Given the description of an element on the screen output the (x, y) to click on. 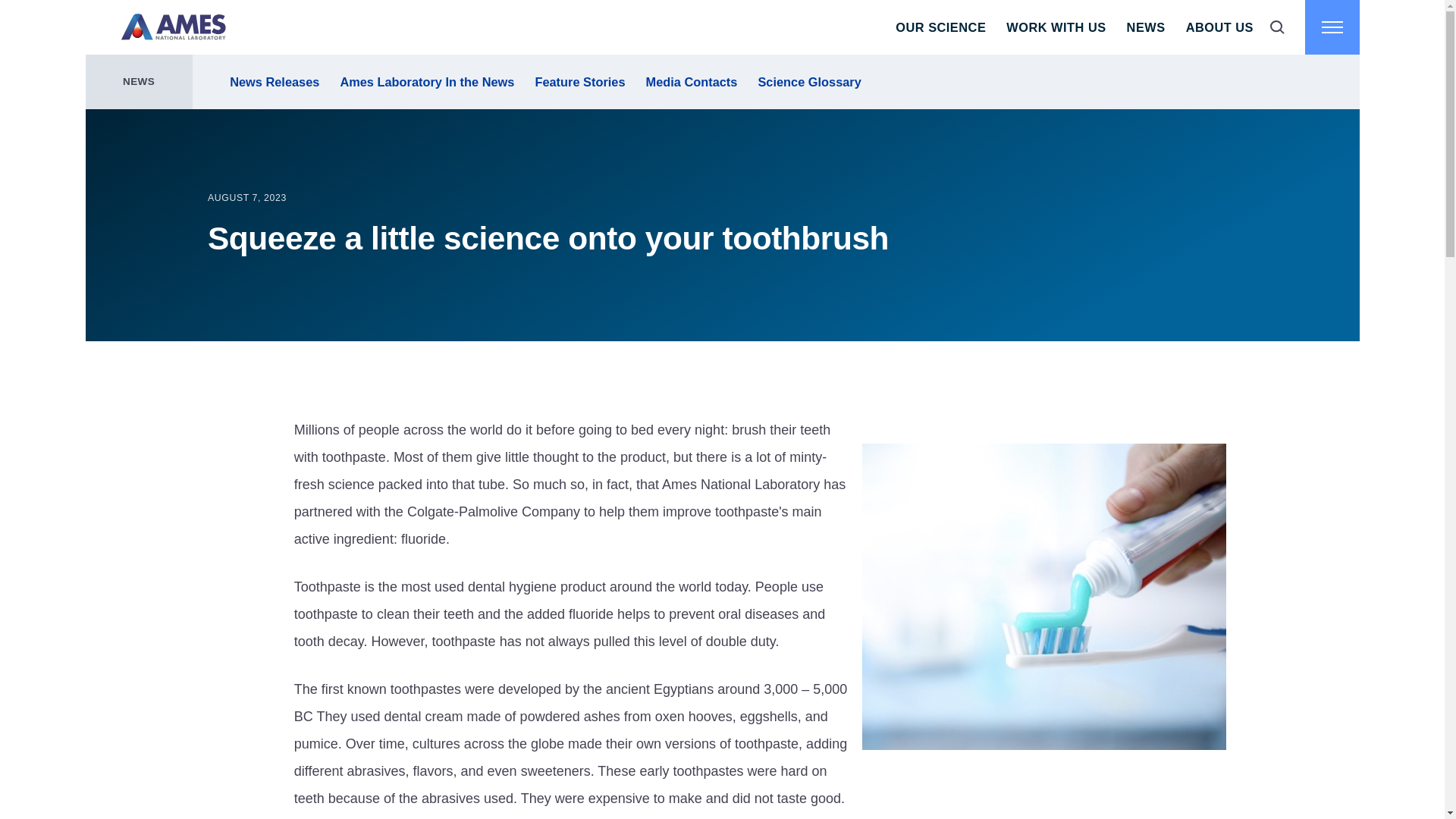
OUR SCIENCE (940, 27)
ABOUT US (1218, 27)
WORK WITH US (1055, 27)
NEWS (1145, 27)
